Given the description of an element on the screen output the (x, y) to click on. 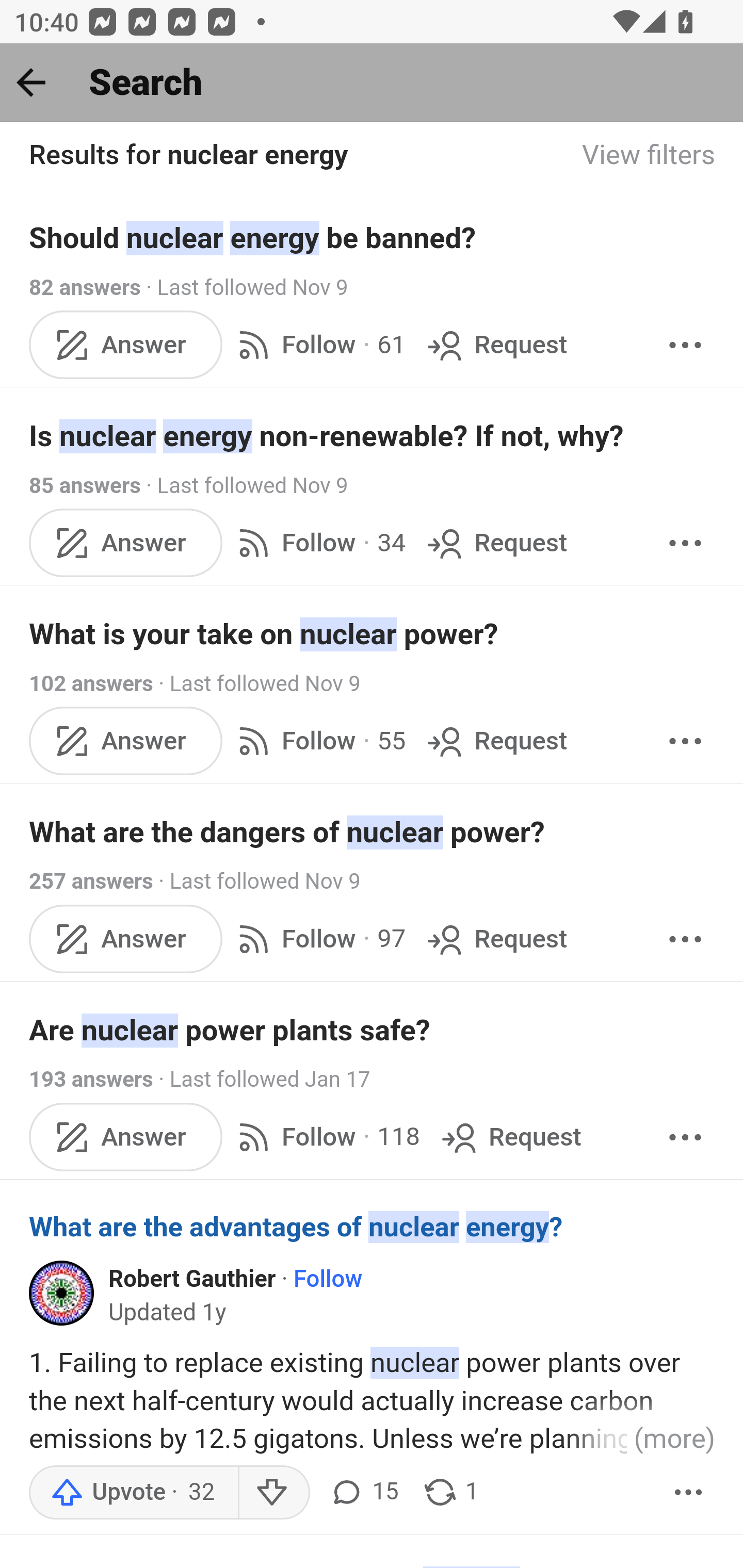
Back Search (371, 82)
Back (30, 82)
View filters (648, 155)
Should nuclear energy be banned? (372, 237)
82 answers 82  answers (84, 287)
Answer (125, 343)
Follow · 61 (317, 343)
Request (495, 343)
More (684, 343)
Is nuclear energy non-renewable? If not, why? (372, 436)
85 answers 85  answers (84, 484)
Answer (125, 543)
Follow · 34 (317, 543)
Request (495, 543)
More (684, 543)
What is your take on nuclear power? (372, 634)
102 answers 102  answers (90, 684)
Answer (125, 741)
Follow · 55 (317, 741)
Request (495, 741)
More (684, 741)
What are the dangers of nuclear power? (372, 832)
257 answers 257  answers (90, 881)
Answer (125, 939)
Follow · 97 (317, 939)
Request (495, 939)
More (684, 939)
Are nuclear power plants safe? (372, 1029)
193 answers 193  answers (90, 1079)
Answer (125, 1137)
Follow · 118 (324, 1137)
Request (509, 1137)
More (684, 1137)
What are the advantages of nuclear energy? (372, 1226)
Profile photo for Robert Gauthier (61, 1293)
Robert Gauthier (192, 1279)
Follow (327, 1279)
Updated 1y Updated  1 y (167, 1313)
Upvote (133, 1492)
Downvote (273, 1492)
15 comments (363, 1492)
1 share (449, 1492)
More (688, 1492)
